Given the description of an element on the screen output the (x, y) to click on. 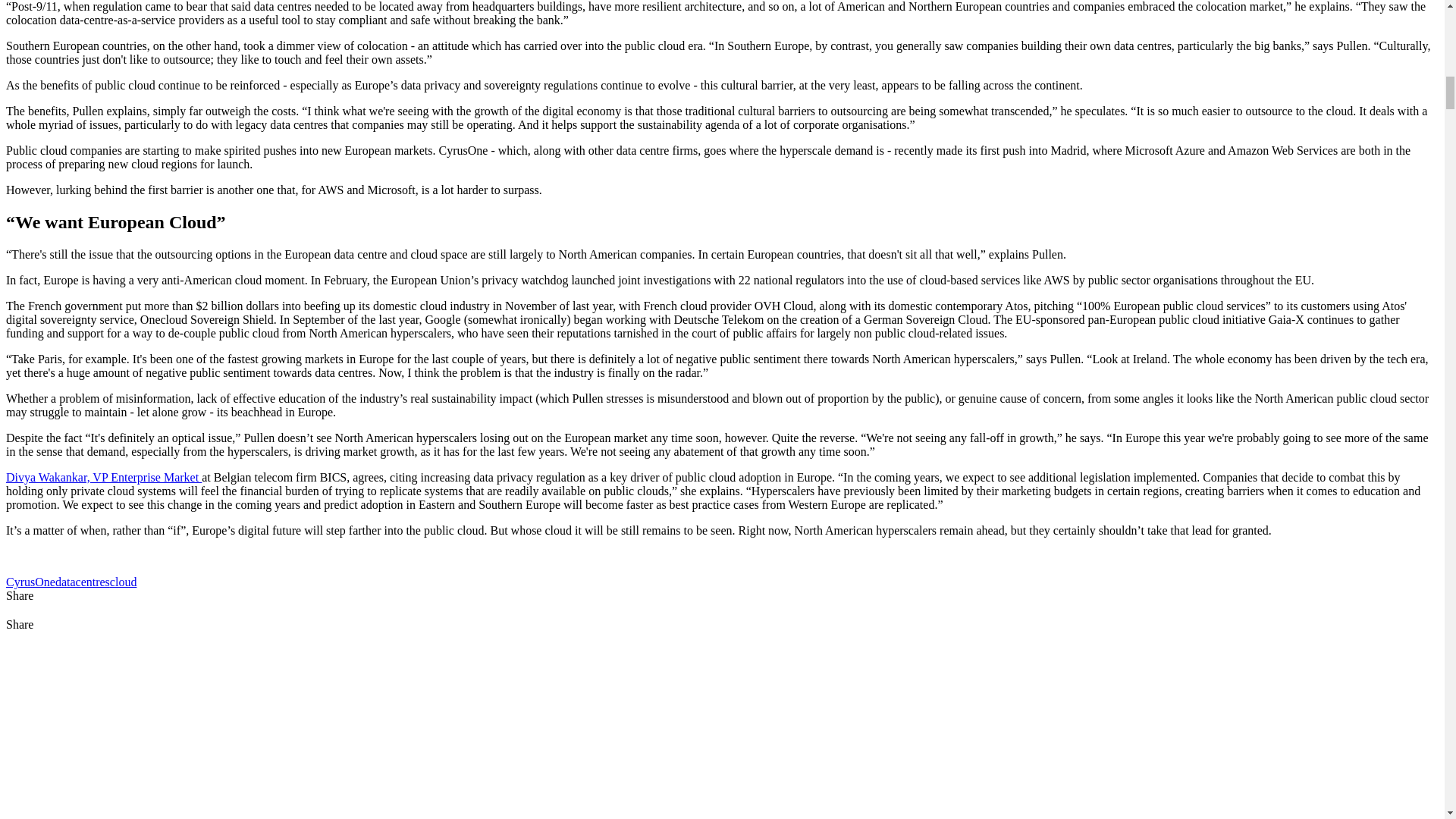
CyrusOne (30, 581)
Divya Wakankar, VP Enterprise Market (103, 477)
datacentres (82, 581)
cloud (123, 581)
